Given the description of an element on the screen output the (x, y) to click on. 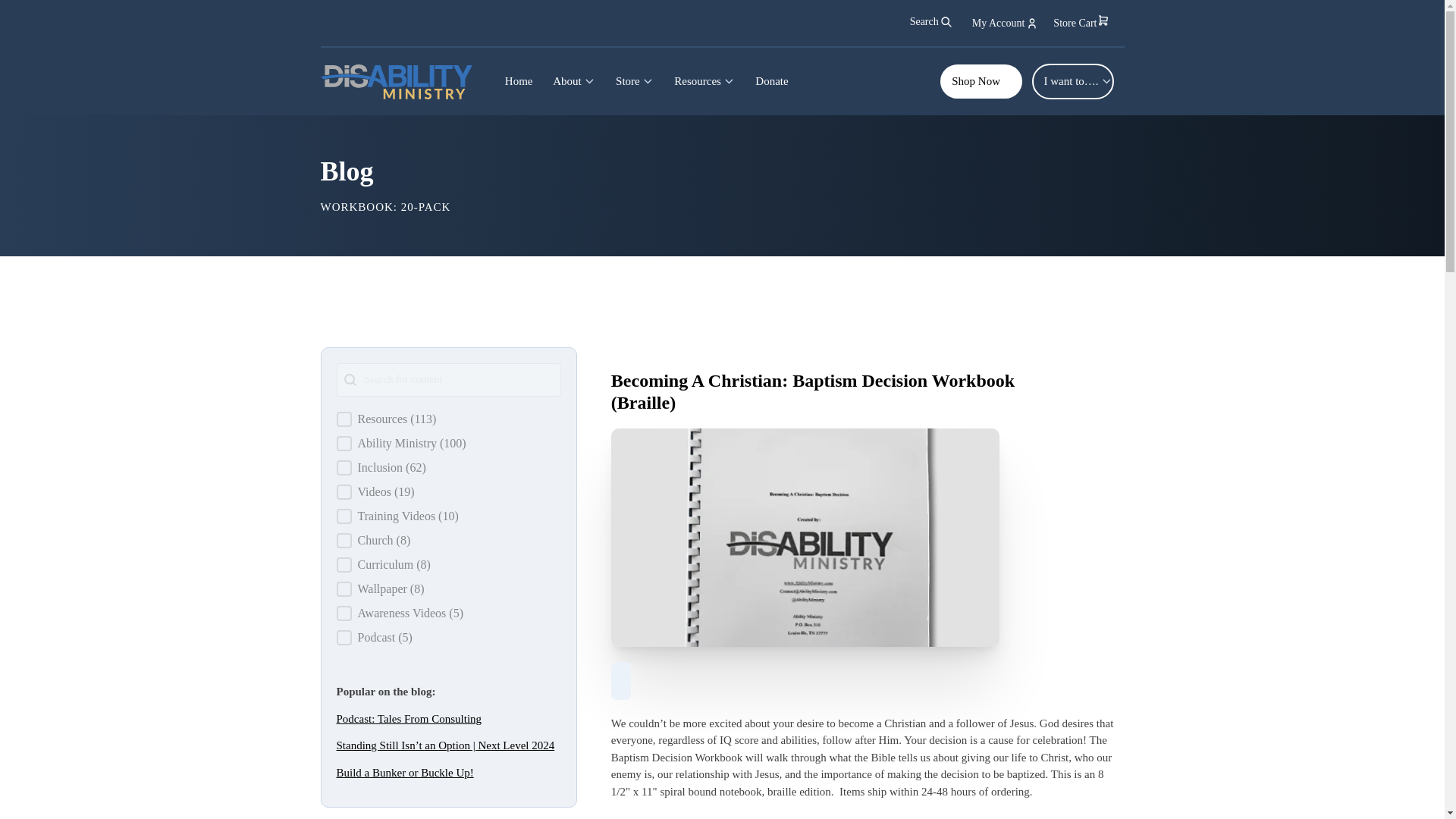
My Account (1005, 23)
About (574, 81)
Home (518, 81)
Search (930, 21)
Resources (704, 81)
Store (634, 81)
Search (20, 8)
